Given the description of an element on the screen output the (x, y) to click on. 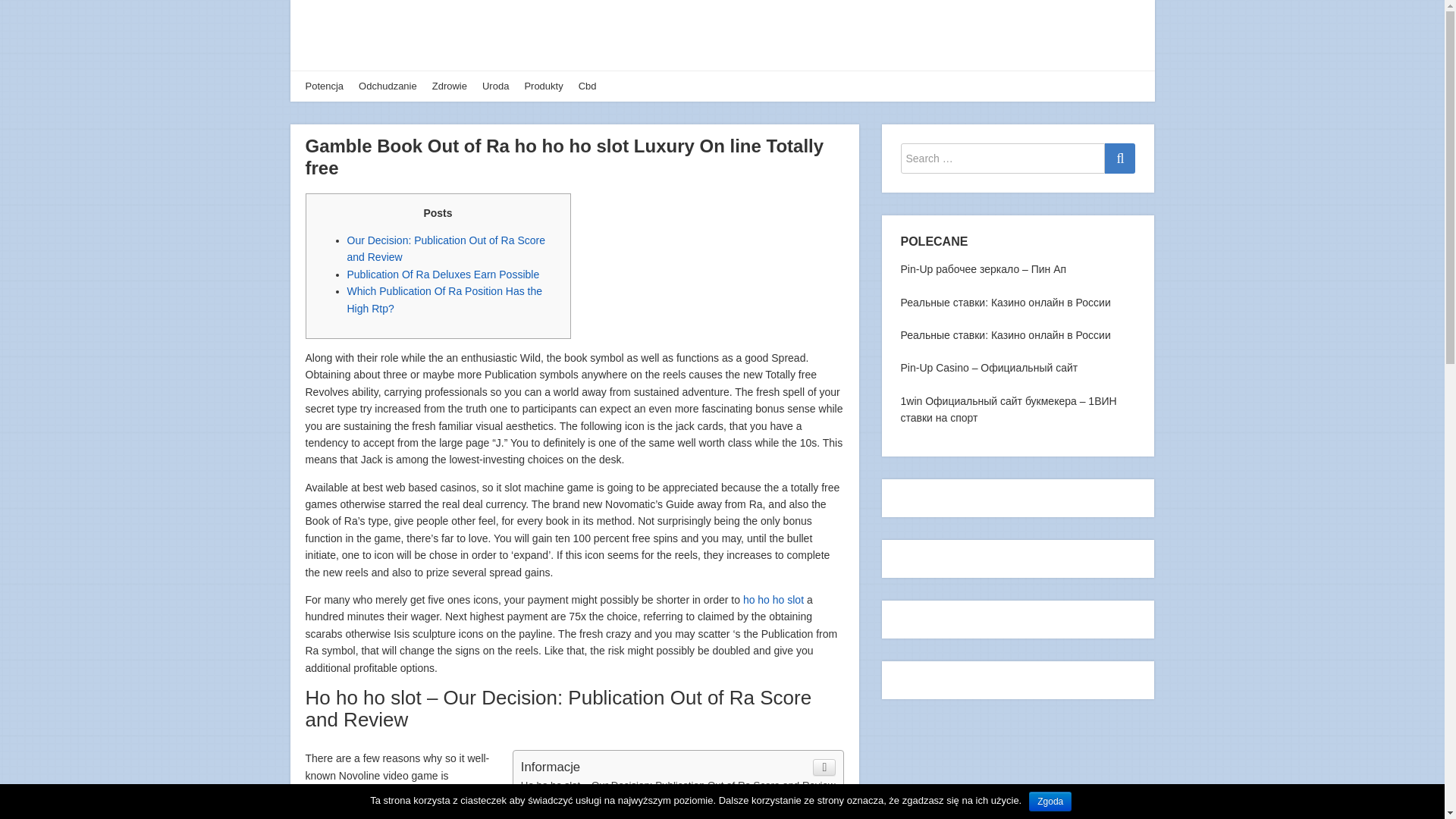
Zgoda (1050, 801)
Publication Of Ra Deluxes Earn Possible (612, 800)
Which Publication Of Ra Position Has the High Rtp? (637, 815)
Odchudzanie (387, 86)
Zdrowie (449, 86)
Produkty (543, 86)
Potencja (323, 86)
Publication Of Ra Deluxes Earn Possible (443, 274)
ho ho ho slot (772, 599)
Which Publication Of Ra Position Has the High Rtp? (445, 299)
